Given the description of an element on the screen output the (x, y) to click on. 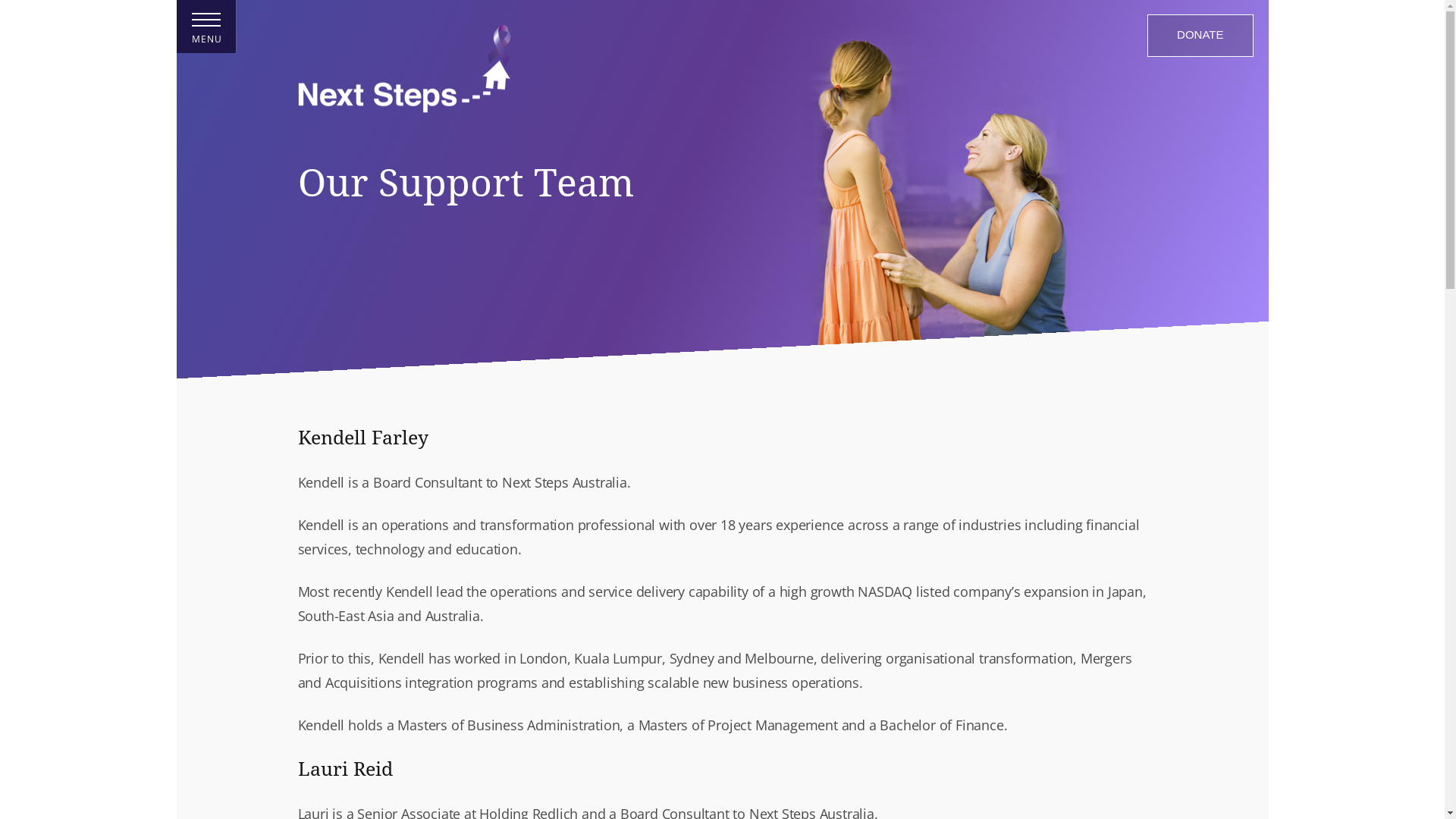
DONATE Element type: text (1199, 35)
